Given the description of an element on the screen output the (x, y) to click on. 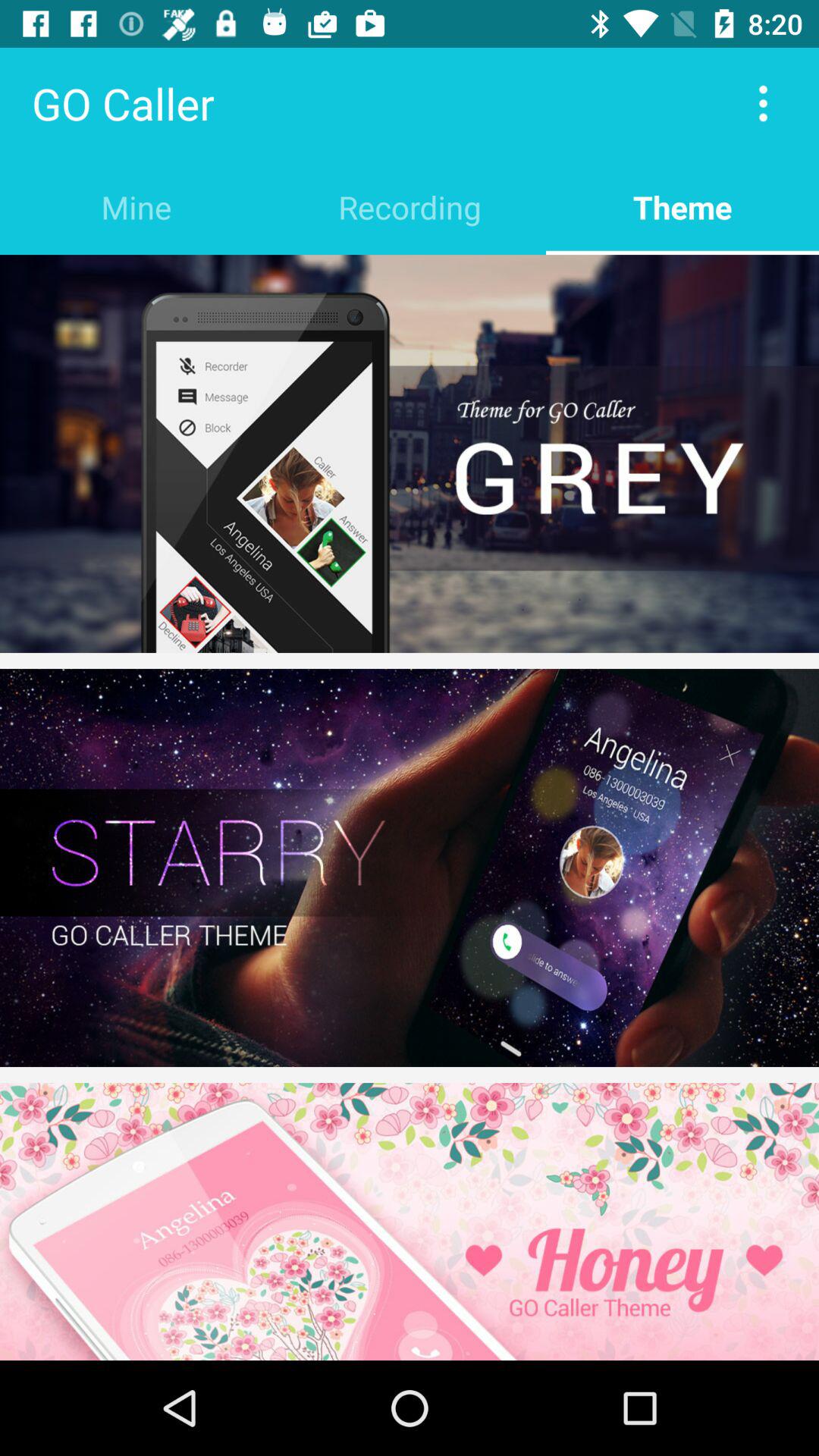
turn on the mine at the top left corner (136, 206)
